Given the description of an element on the screen output the (x, y) to click on. 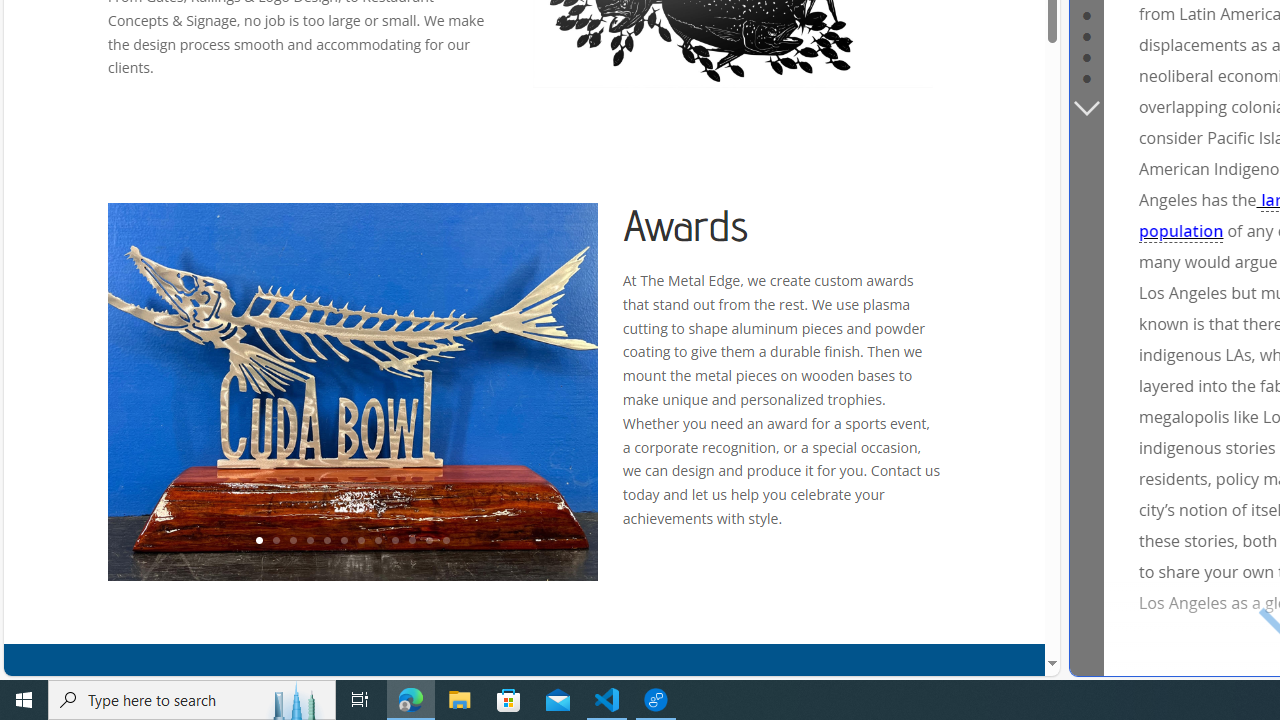
Go to section 6: Pacific Islanders of Los Angeles  (1086, 55)
8 (377, 541)
